Given the description of an element on the screen output the (x, y) to click on. 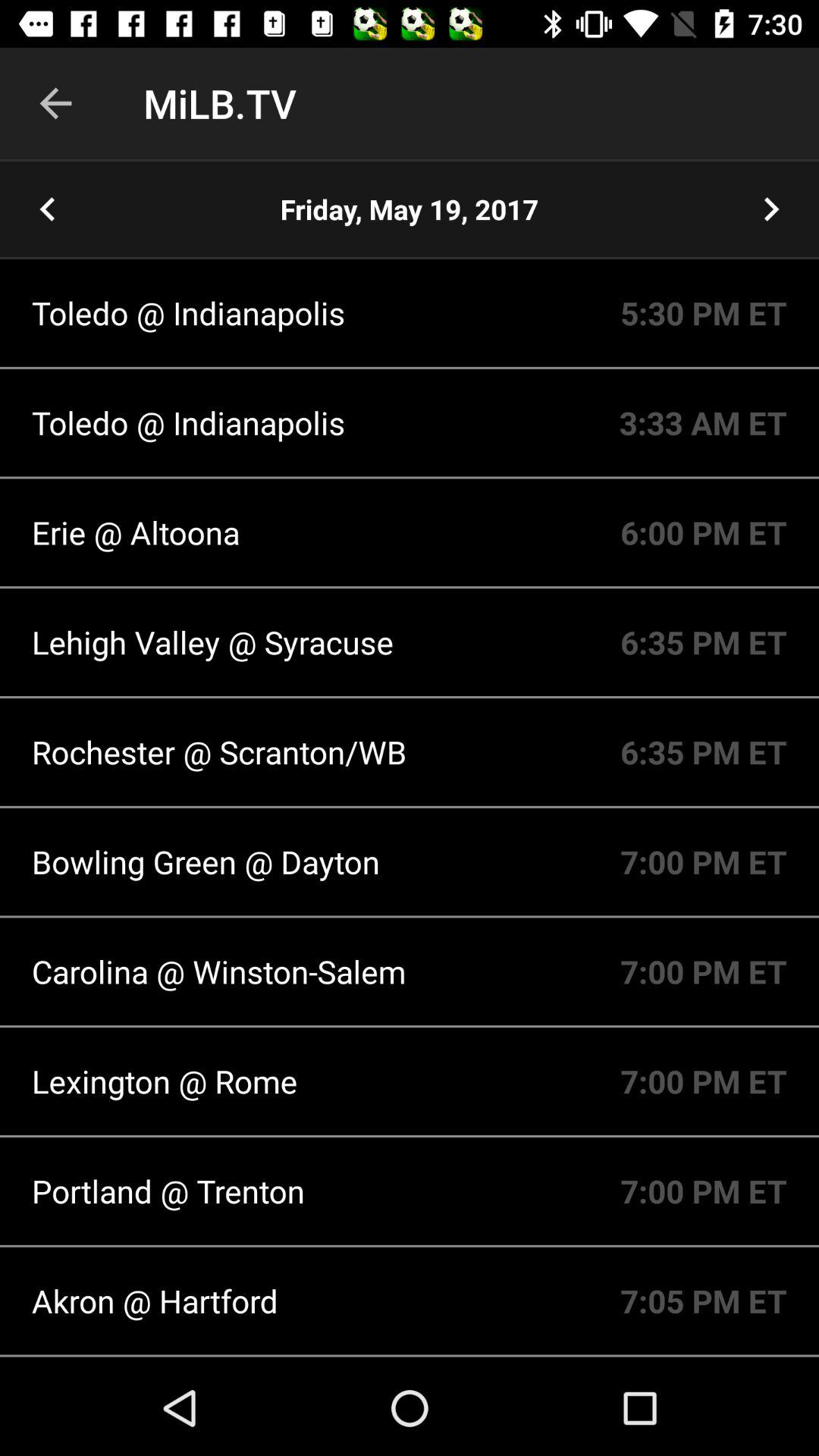
go to next option (771, 209)
